Given the description of an element on the screen output the (x, y) to click on. 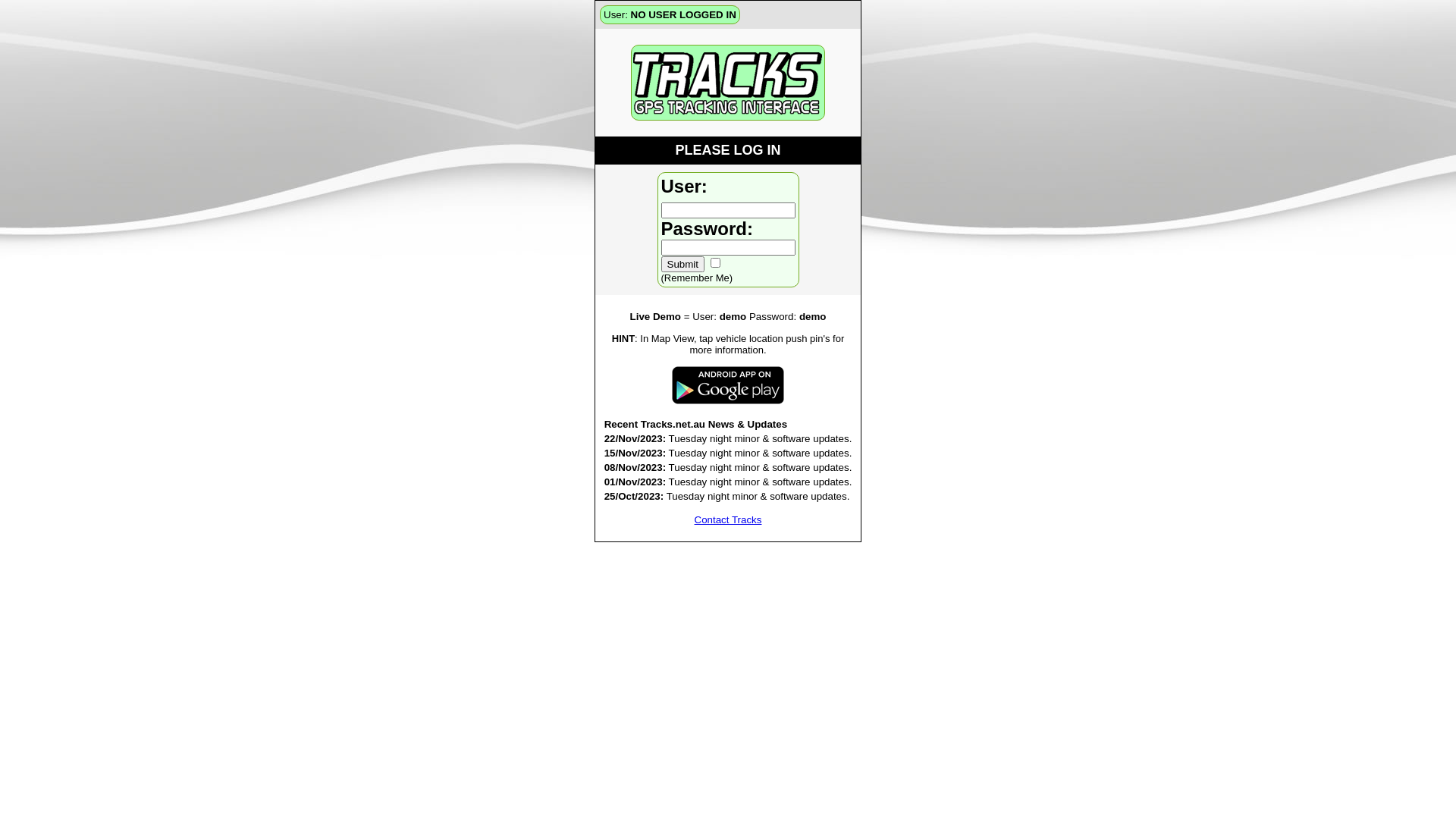
Contact Tracks Element type: text (728, 519)
Submit Element type: text (682, 264)
